Given the description of an element on the screen output the (x, y) to click on. 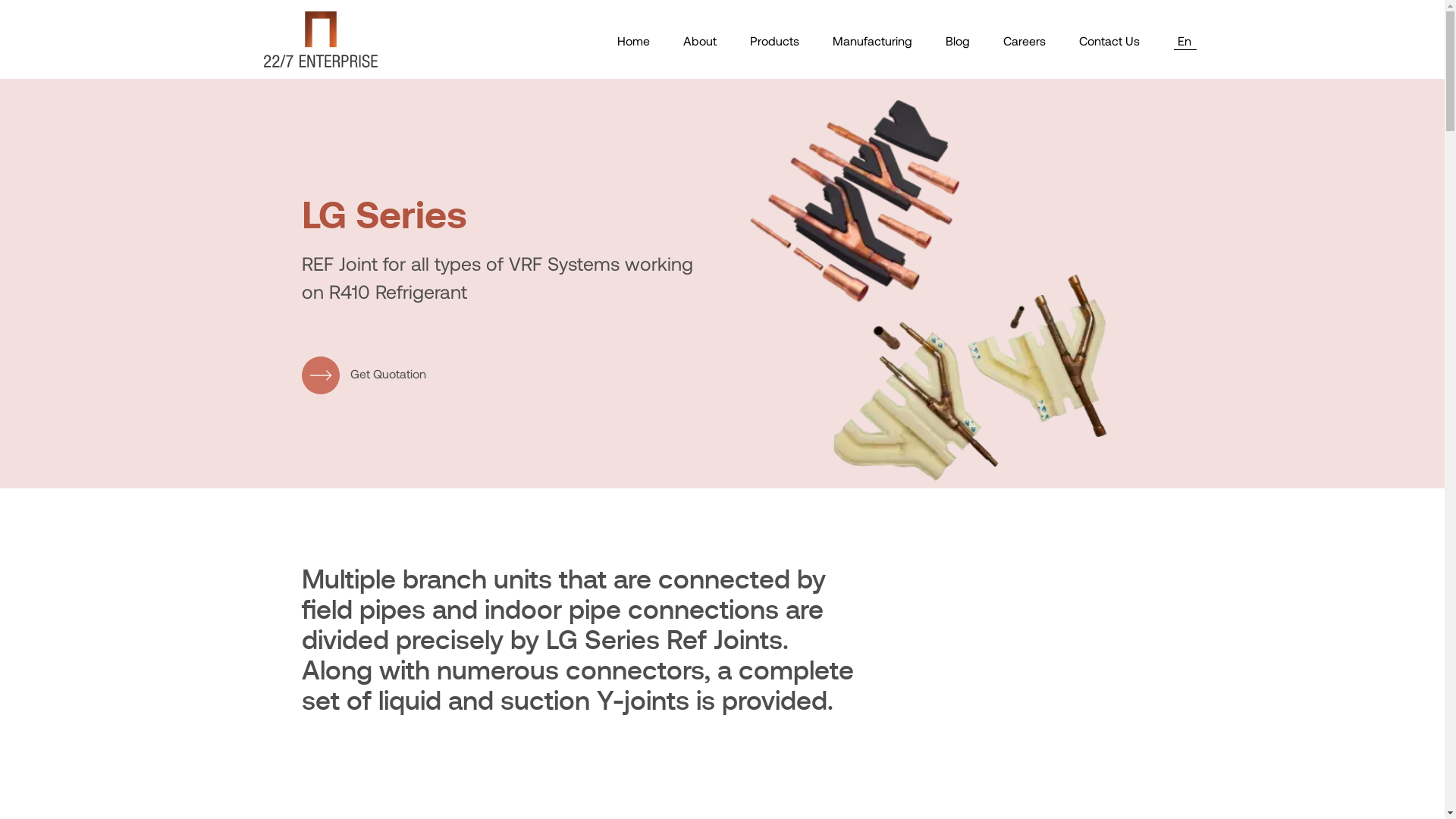
About Element type: text (698, 40)
Get Quotation Element type: text (363, 373)
Products Element type: text (773, 40)
Blog Element type: text (956, 40)
Manufacturing Element type: text (872, 40)
Get Quotation Element type: text (363, 375)
Contact Us Element type: text (1108, 40)
Careers Element type: text (1023, 40)
Home Element type: text (633, 40)
